Given the description of an element on the screen output the (x, y) to click on. 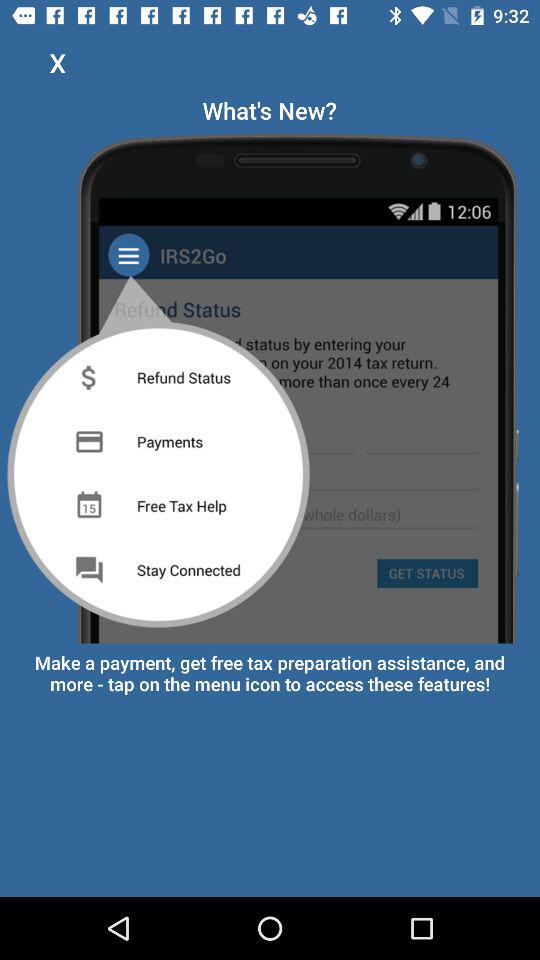
turn off x icon (57, 62)
